Given the description of an element on the screen output the (x, y) to click on. 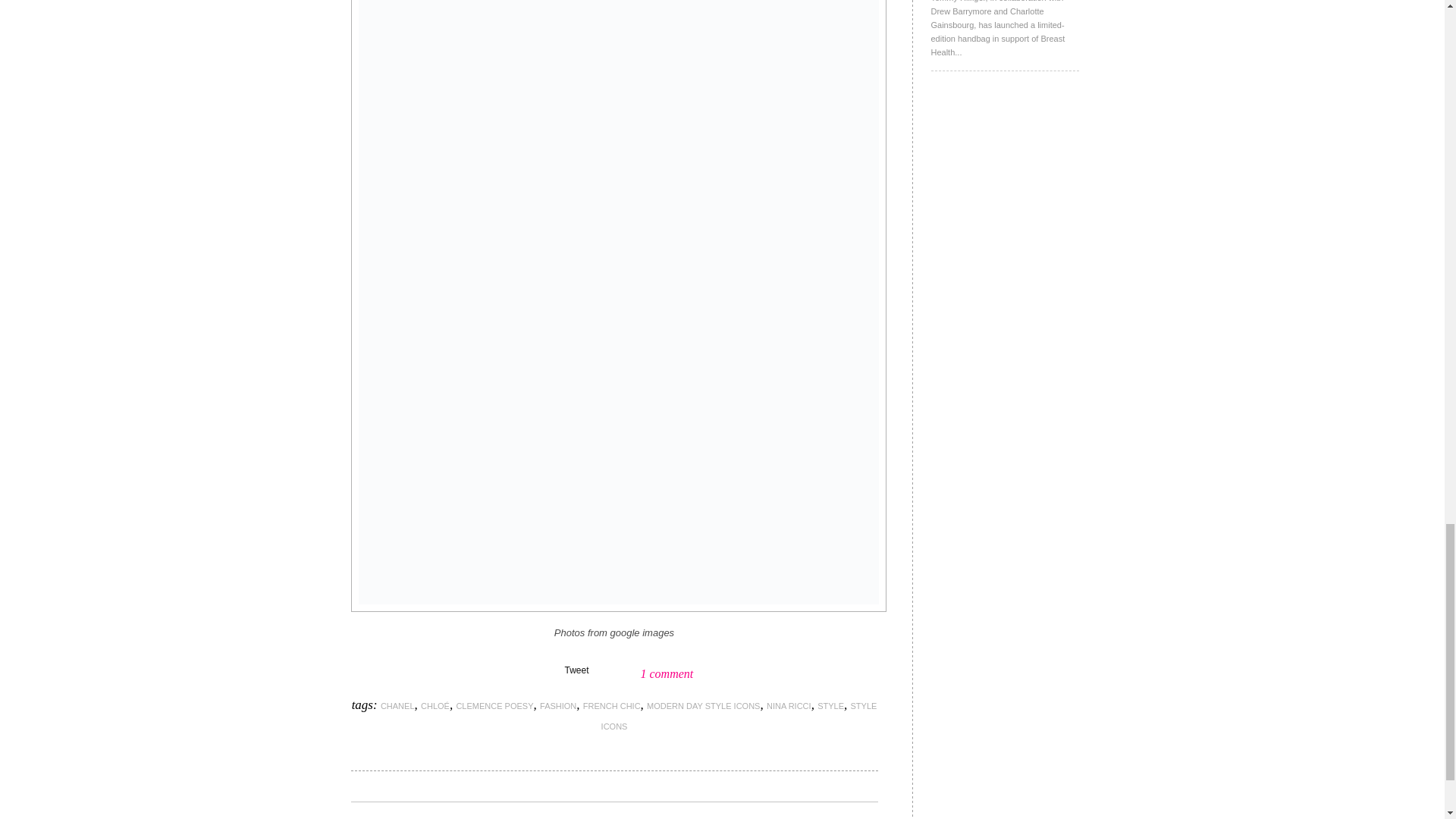
NINA RICCI (788, 705)
STYLE ICONS (739, 716)
STYLE (830, 705)
FRENCH CHIC (611, 705)
FASHION (558, 705)
CLEMENCE POESY (493, 705)
MODERN DAY STYLE ICONS (703, 705)
Tweet (576, 670)
CHANEL (397, 705)
1 comment (666, 673)
